Given the description of an element on the screen output the (x, y) to click on. 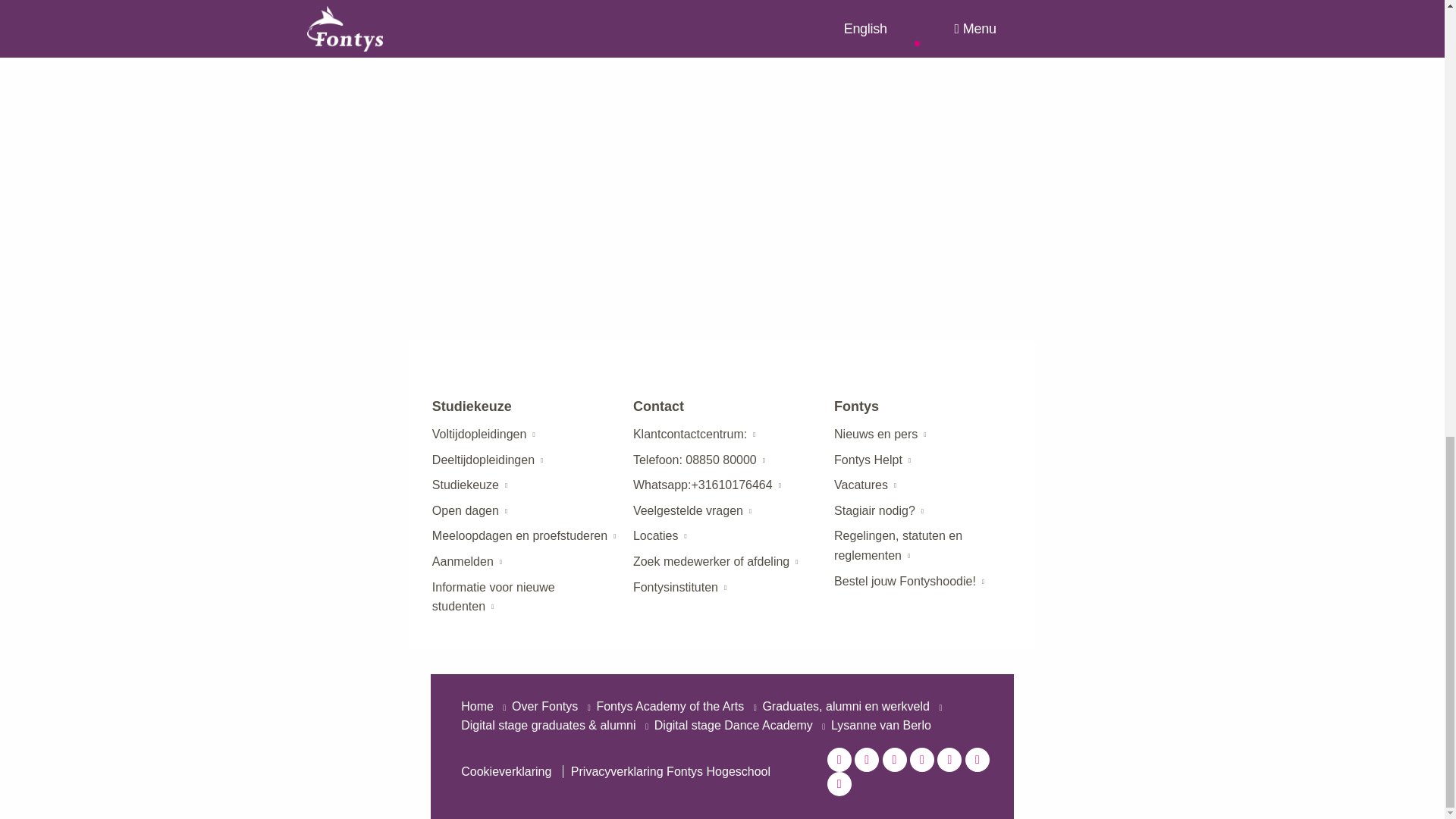
Open dagen bij Fontys (465, 510)
Hulp bij het kiezen van je opleiding (465, 484)
Goede start bij Fontys (493, 596)
Agenda SKA (519, 535)
